Given the description of an element on the screen output the (x, y) to click on. 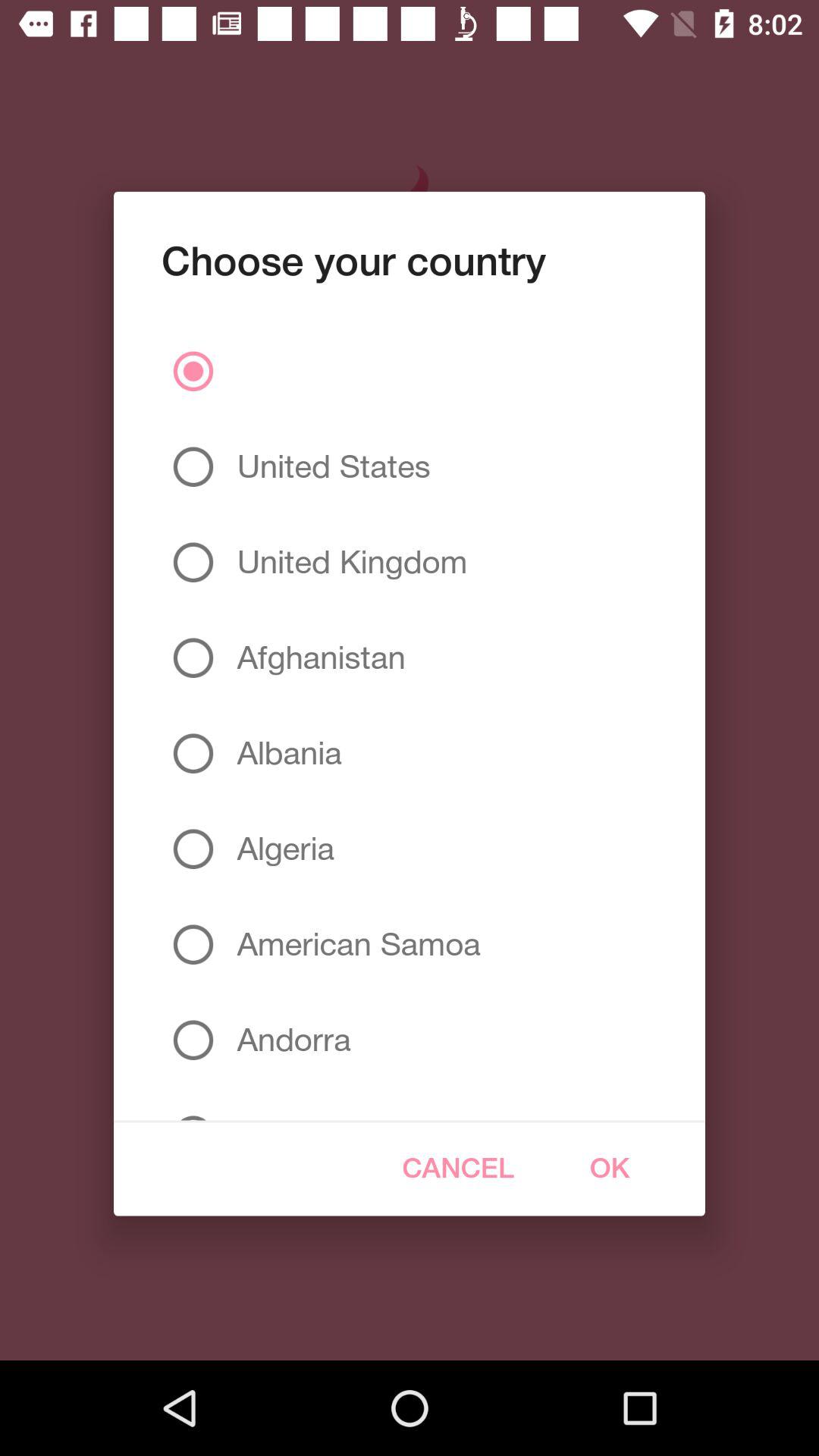
open the algeria item (279, 848)
